Given the description of an element on the screen output the (x, y) to click on. 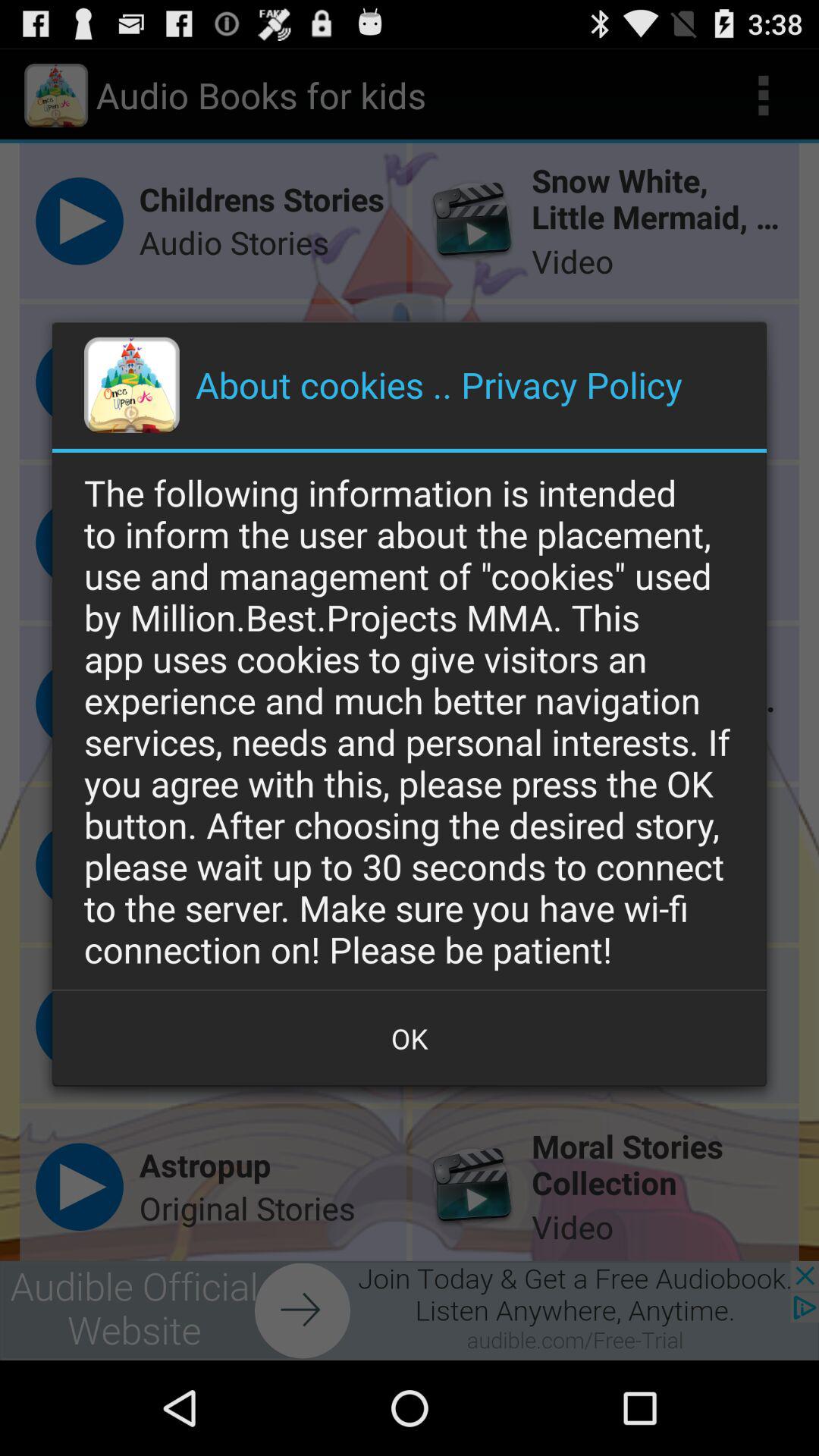
turn off button at the bottom (409, 1038)
